Given the description of an element on the screen output the (x, y) to click on. 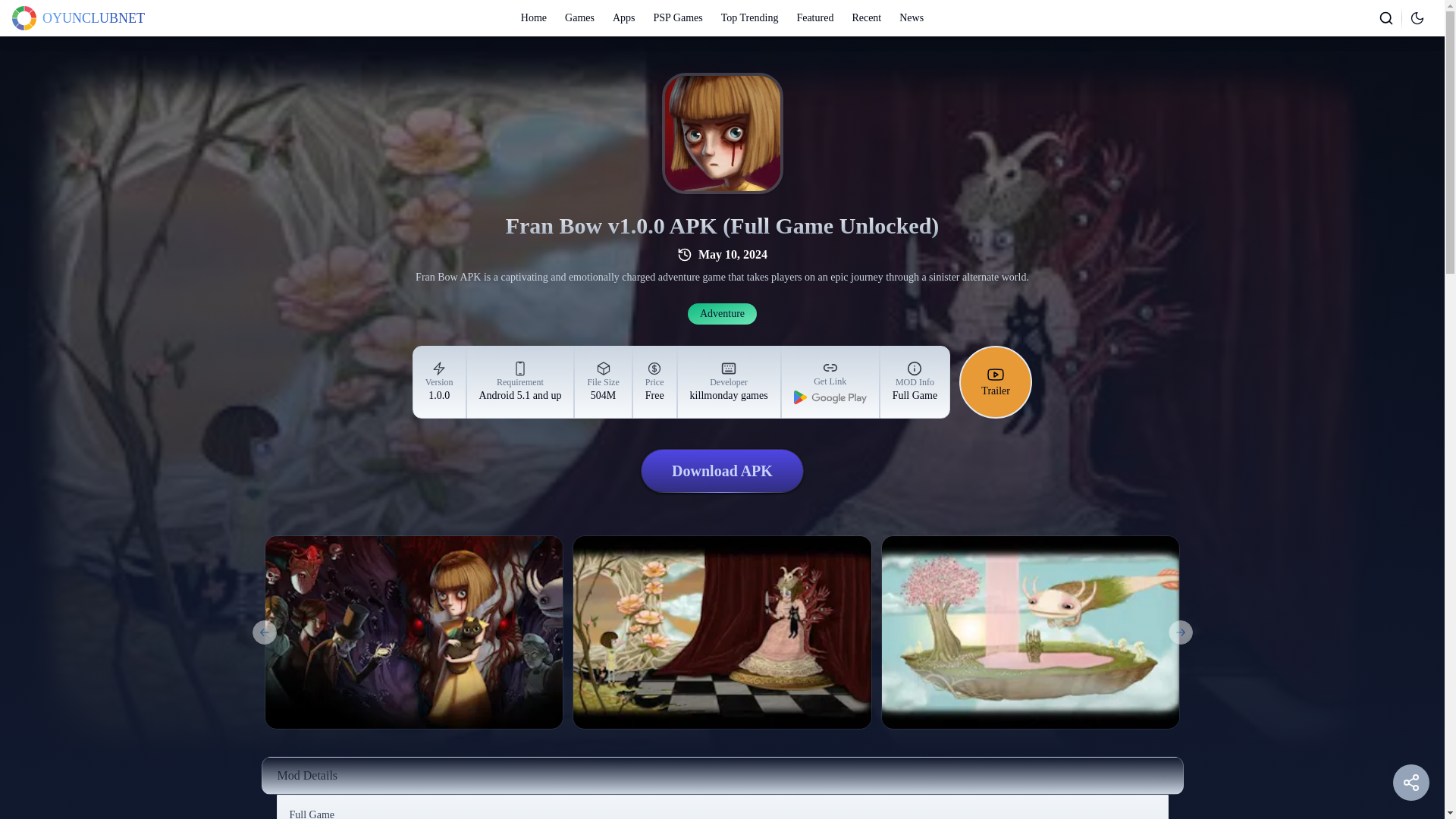
Recent (729, 382)
Search (865, 17)
PSP Games (1385, 17)
Games (678, 17)
News (579, 17)
OYUNCLUBNET (911, 17)
adventure (77, 17)
Apps (722, 313)
